Given the description of an element on the screen output the (x, y) to click on. 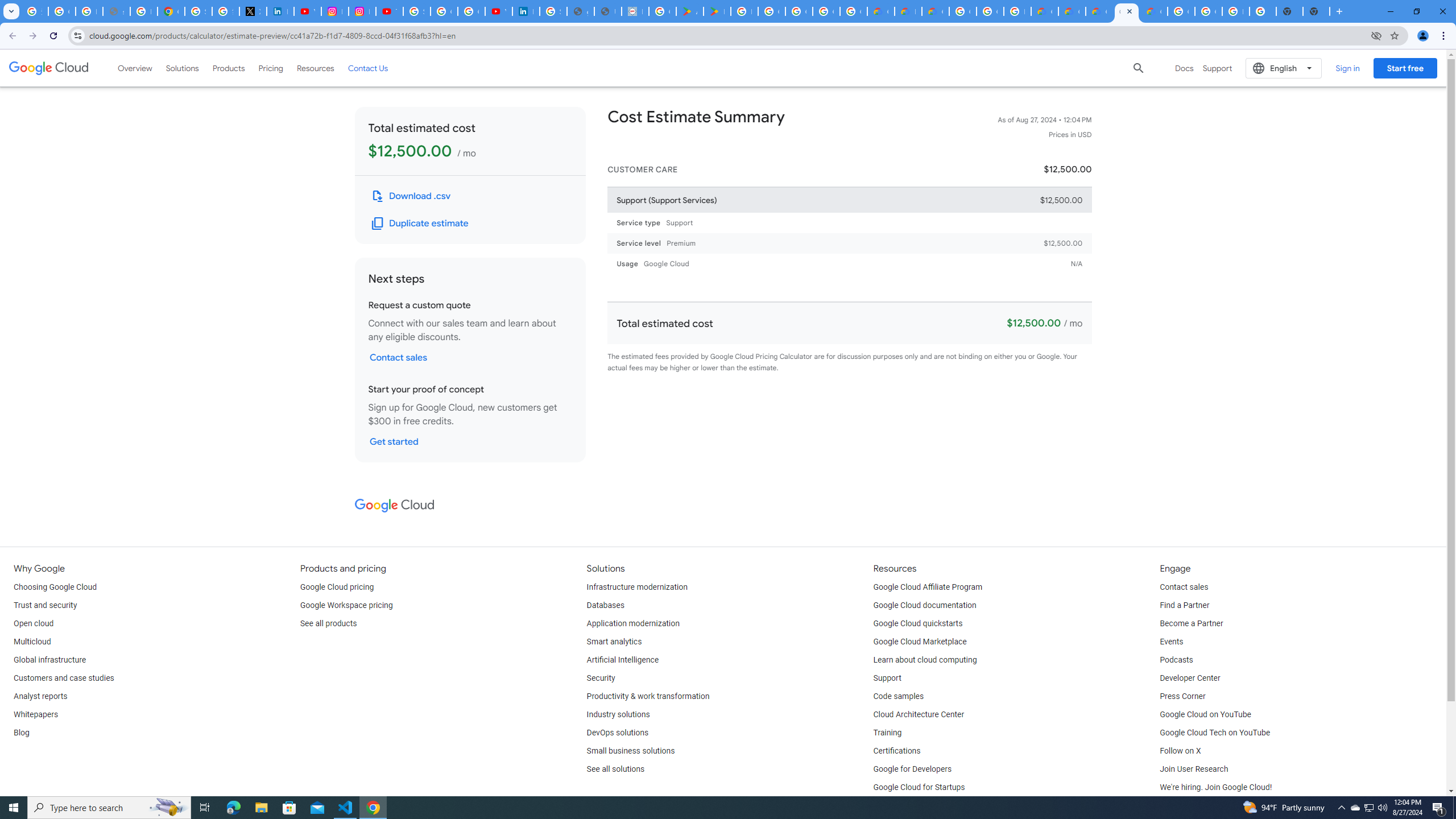
YouTube Content Monetization Policies - How YouTube Works (307, 11)
Google Cloud Tech on YouTube (1214, 732)
Training (887, 732)
Google Cloud Pricing Calculator (1071, 11)
Join User Research (1193, 769)
Google Cloud (48, 67)
Global infrastructure (49, 660)
See all solutions (615, 769)
Customers and case studies (64, 678)
Duplicate this estimate (420, 223)
